Given the description of an element on the screen output the (x, y) to click on. 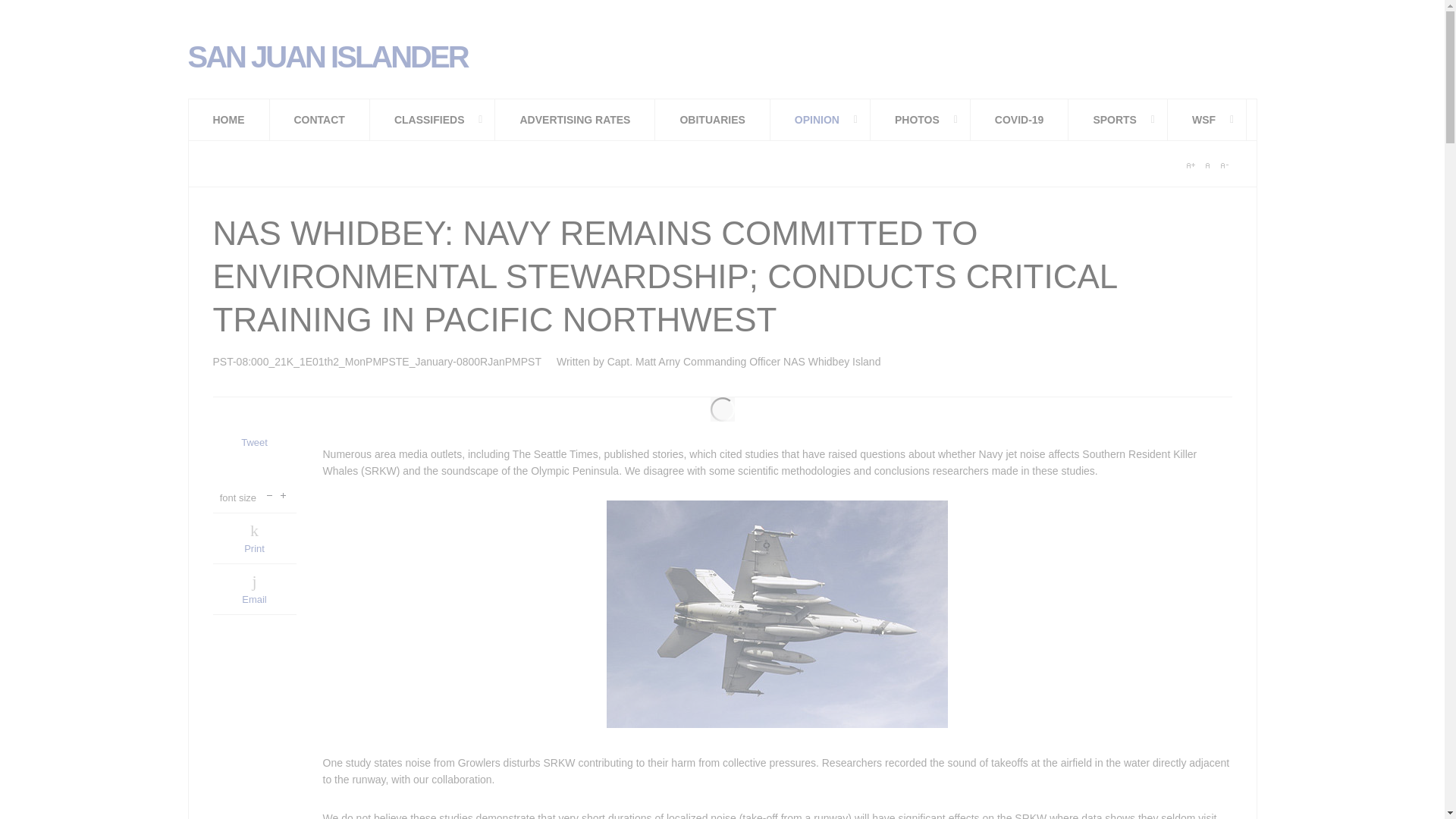
HOME (228, 119)
CONTACT (319, 119)
PHOTOS (920, 119)
ADVERTISING RATES (575, 119)
SAN JUAN ISLANDER (327, 53)
CLASSIFIEDS (432, 119)
OPINION (820, 119)
OBITUARIES (712, 119)
